Given the description of an element on the screen output the (x, y) to click on. 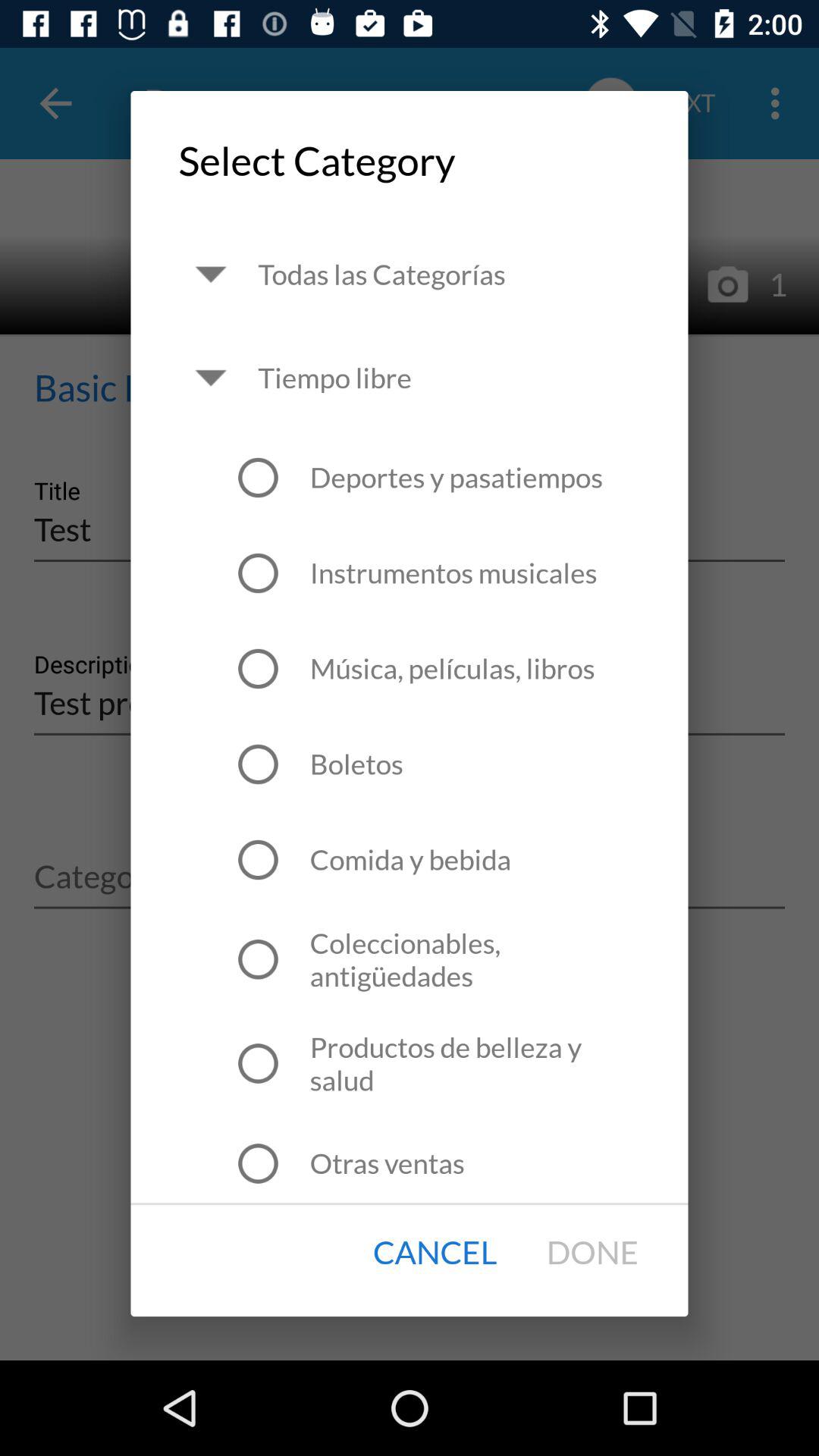
select the icon to the left of done item (435, 1252)
